Given the description of an element on the screen output the (x, y) to click on. 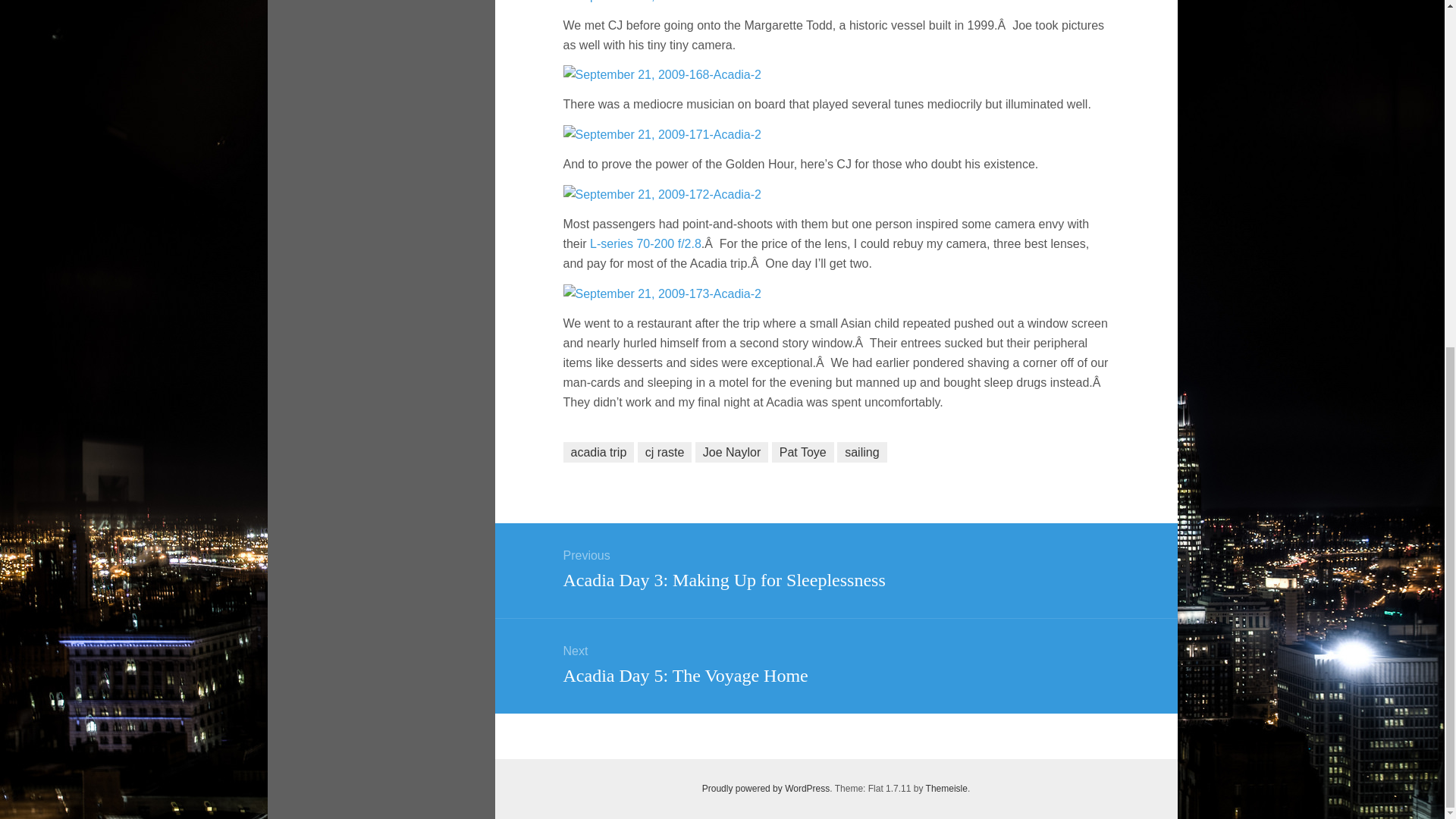
September 21, 2009-168-Acadia-2 (661, 74)
sailing (861, 452)
September 21, 2009-173-Acadia-2 (661, 292)
September 21, 2009-172-Acadia-2 (661, 193)
Flat WordPress Theme (947, 787)
Semantic Personal Publishing Platform (765, 787)
Joe Naylor (731, 452)
Pat Toye (802, 452)
Proudly powered by WordPress (765, 787)
September 21, 2009-171-Acadia-2 (661, 133)
acadia trip (597, 452)
Themeisle (947, 787)
